Given the description of an element on the screen output the (x, y) to click on. 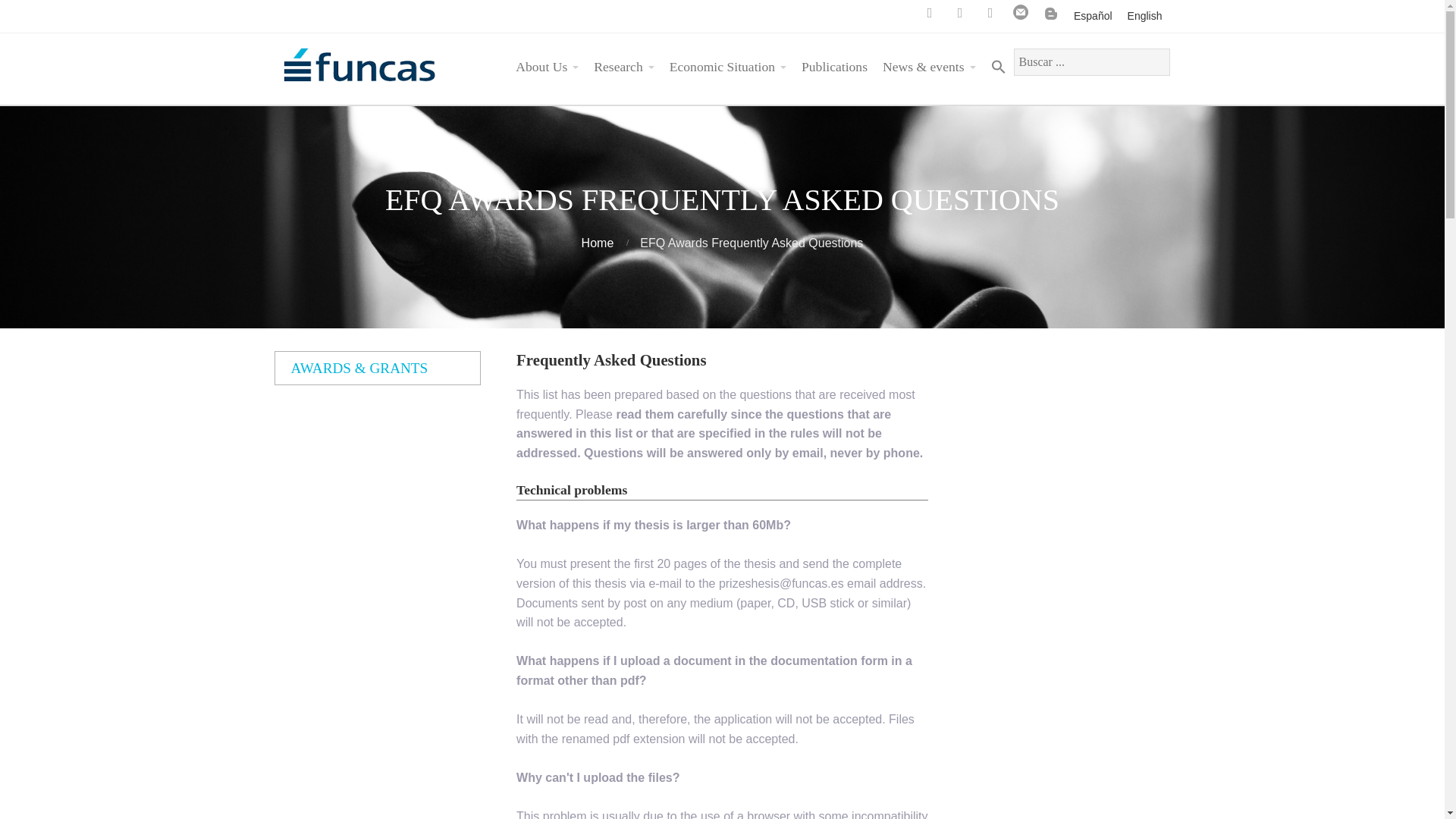
LinkedIn (990, 12)
Twitter (929, 12)
English (1144, 15)
Economic Situation (727, 66)
About Us (547, 66)
YouTube (959, 12)
Research (623, 66)
